Given the description of an element on the screen output the (x, y) to click on. 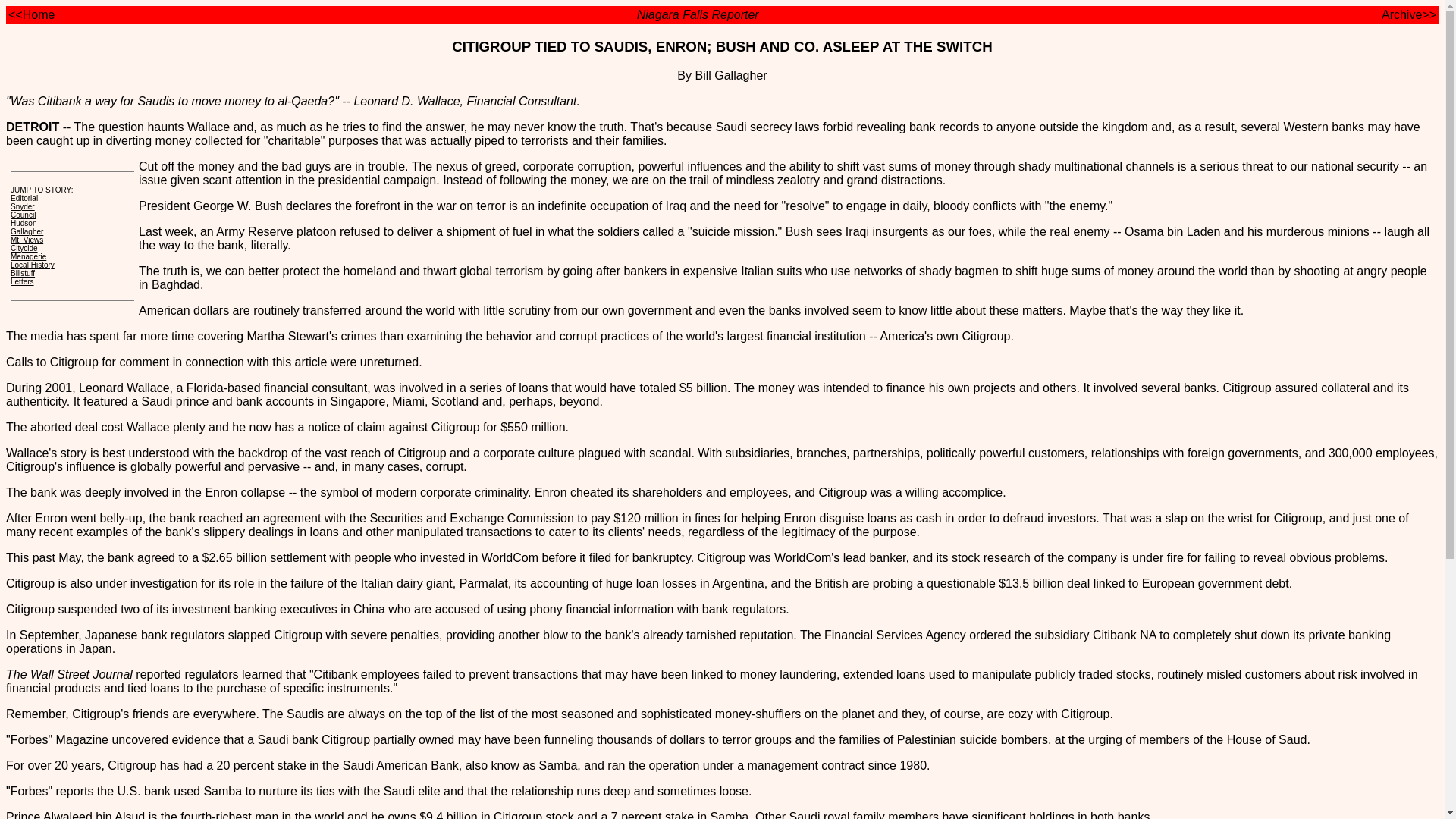
Archive (1401, 14)
Menagerie (28, 256)
Editorial (23, 198)
Snyder (22, 206)
Local History (32, 265)
Citycide (23, 248)
Hudson (23, 223)
Mt. Views (26, 239)
Letters (21, 281)
Council (22, 214)
Billstuff (22, 273)
Gallagher (26, 231)
Army Reserve platoon refused to deliver a shipment of fuel (373, 231)
Home (39, 14)
